Given the description of an element on the screen output the (x, y) to click on. 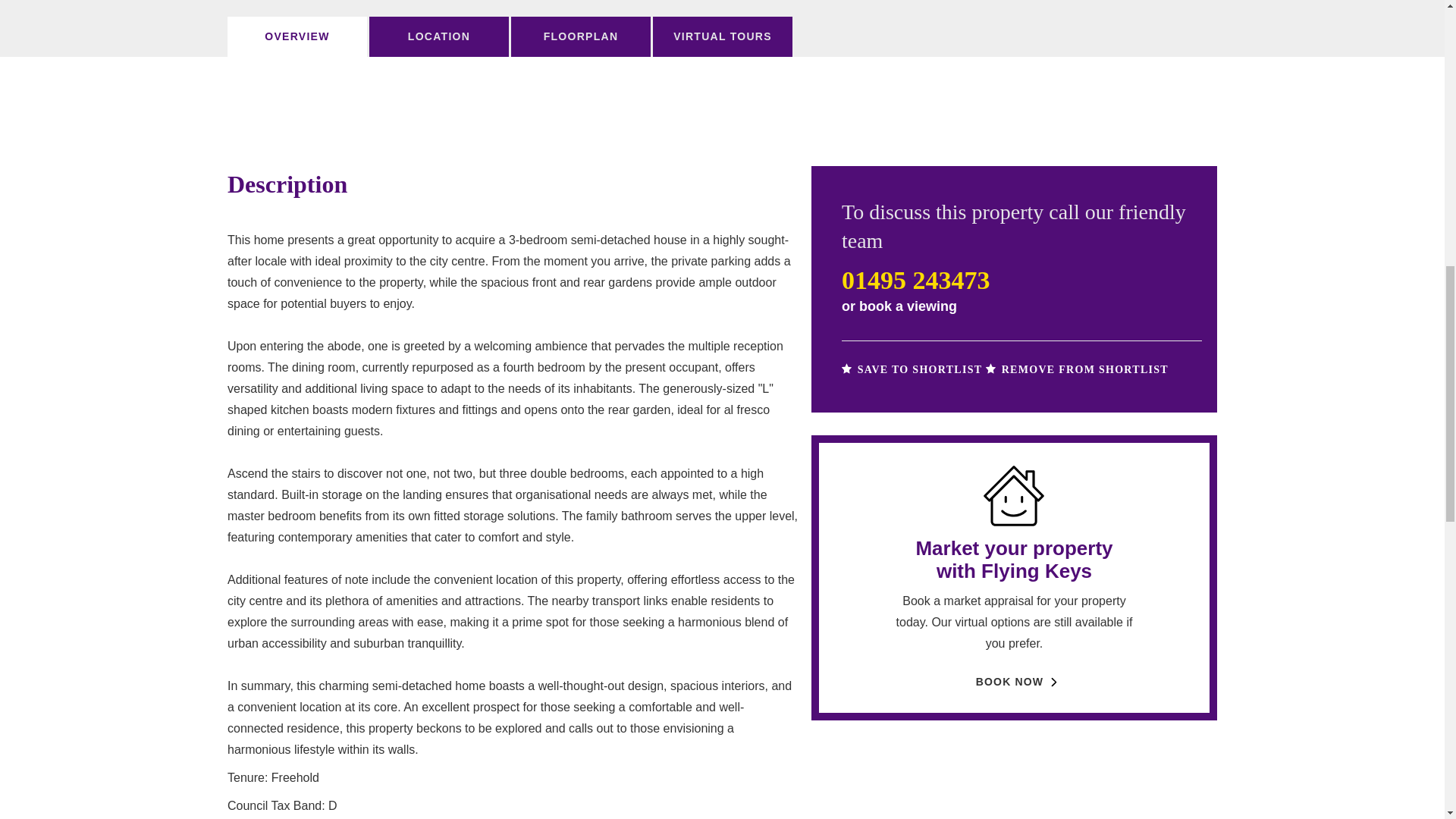
LOCATION (438, 36)
OVERVIEW (296, 36)
VIRTUAL TOURS (722, 36)
FLOORPLAN (580, 36)
